Given the description of an element on the screen output the (x, y) to click on. 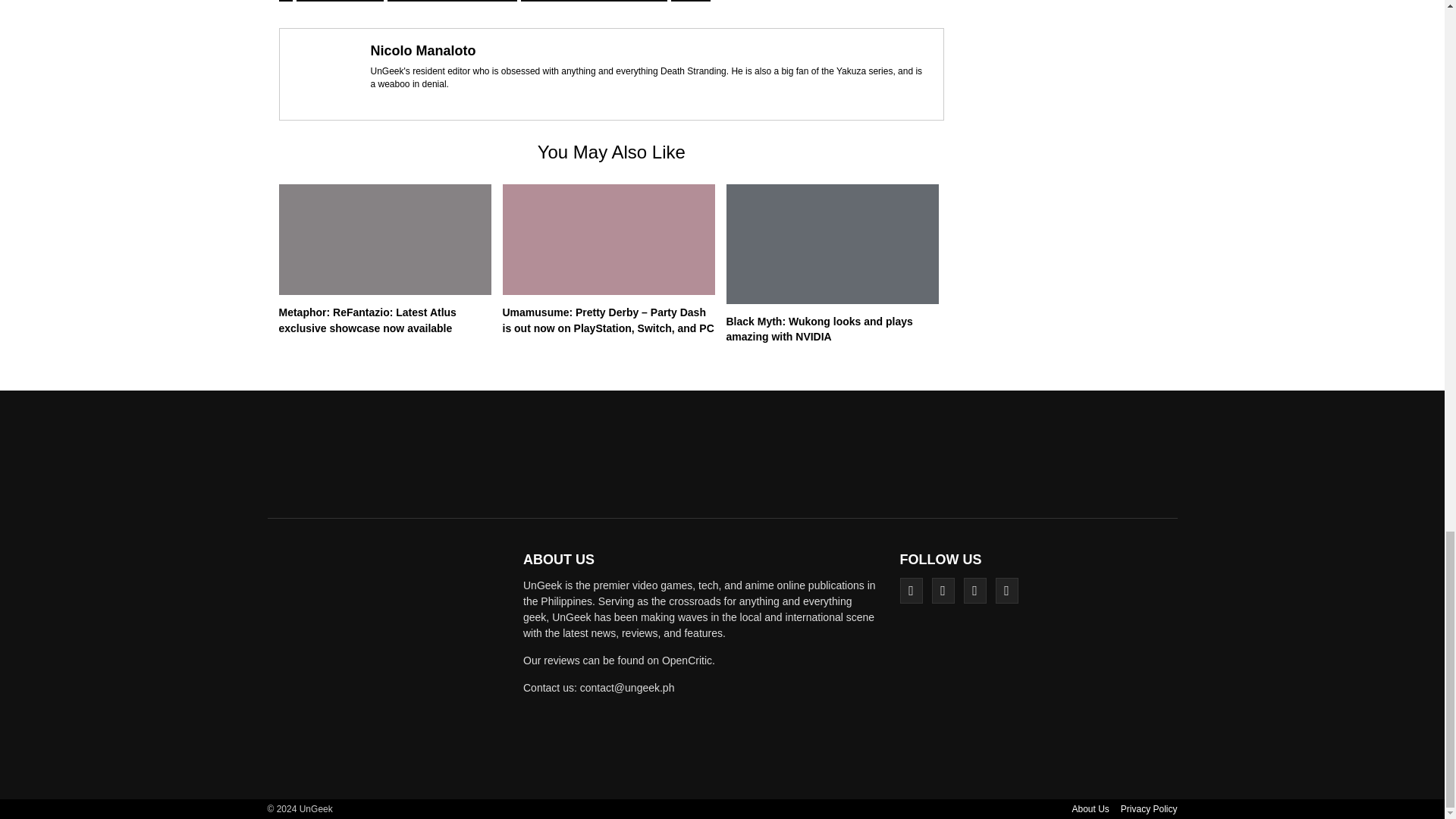
UnGeek (389, 663)
Rainbow Six Siege Operators (451, 0)
Ubisoft (690, 0)
Black Myth: Wukong looks and plays amazing with NVIDIA (819, 328)
Rainbow Six Siege (340, 0)
